Given the description of an element on the screen output the (x, y) to click on. 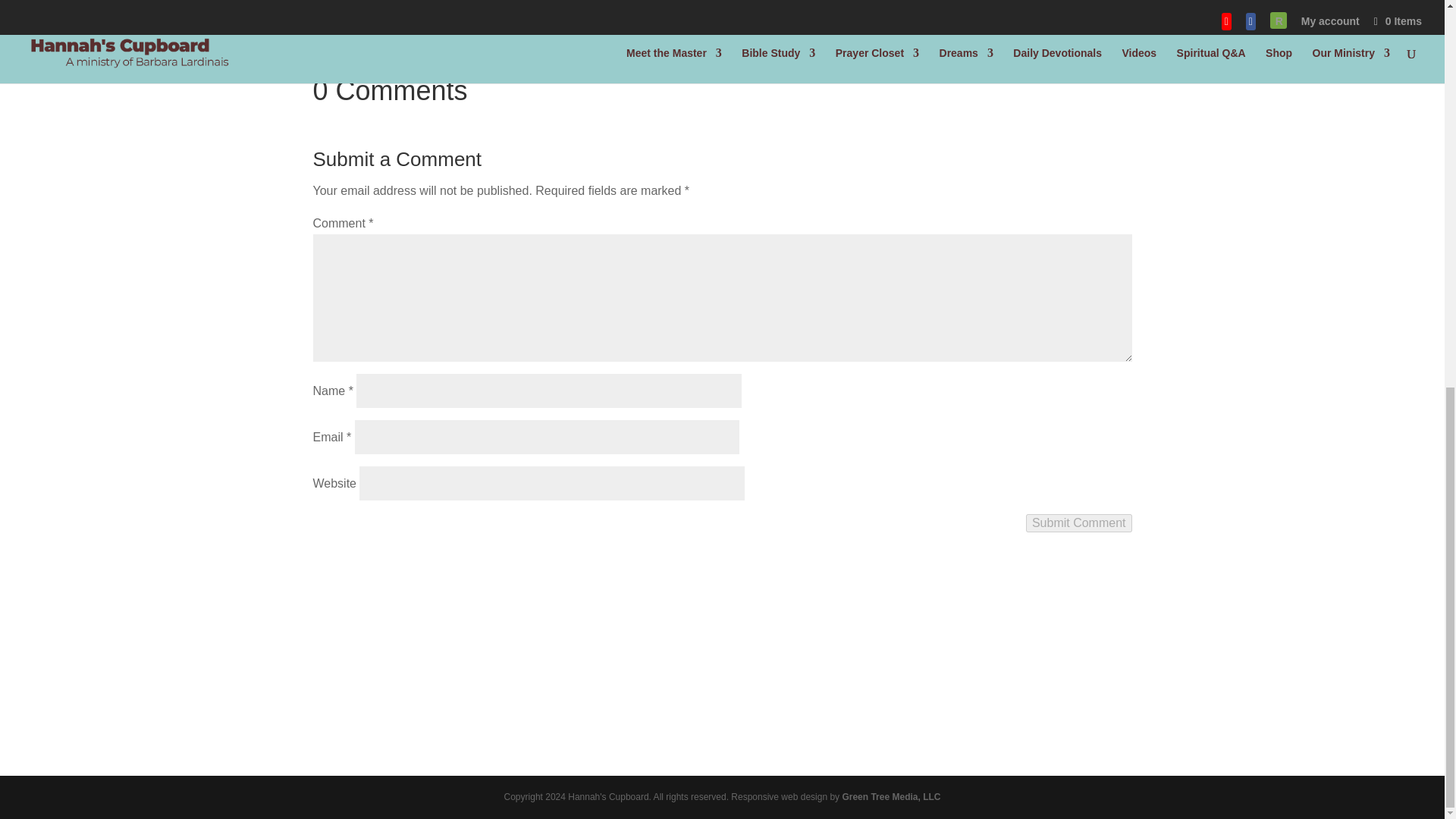
Submit Comment (1079, 523)
